Given the description of an element on the screen output the (x, y) to click on. 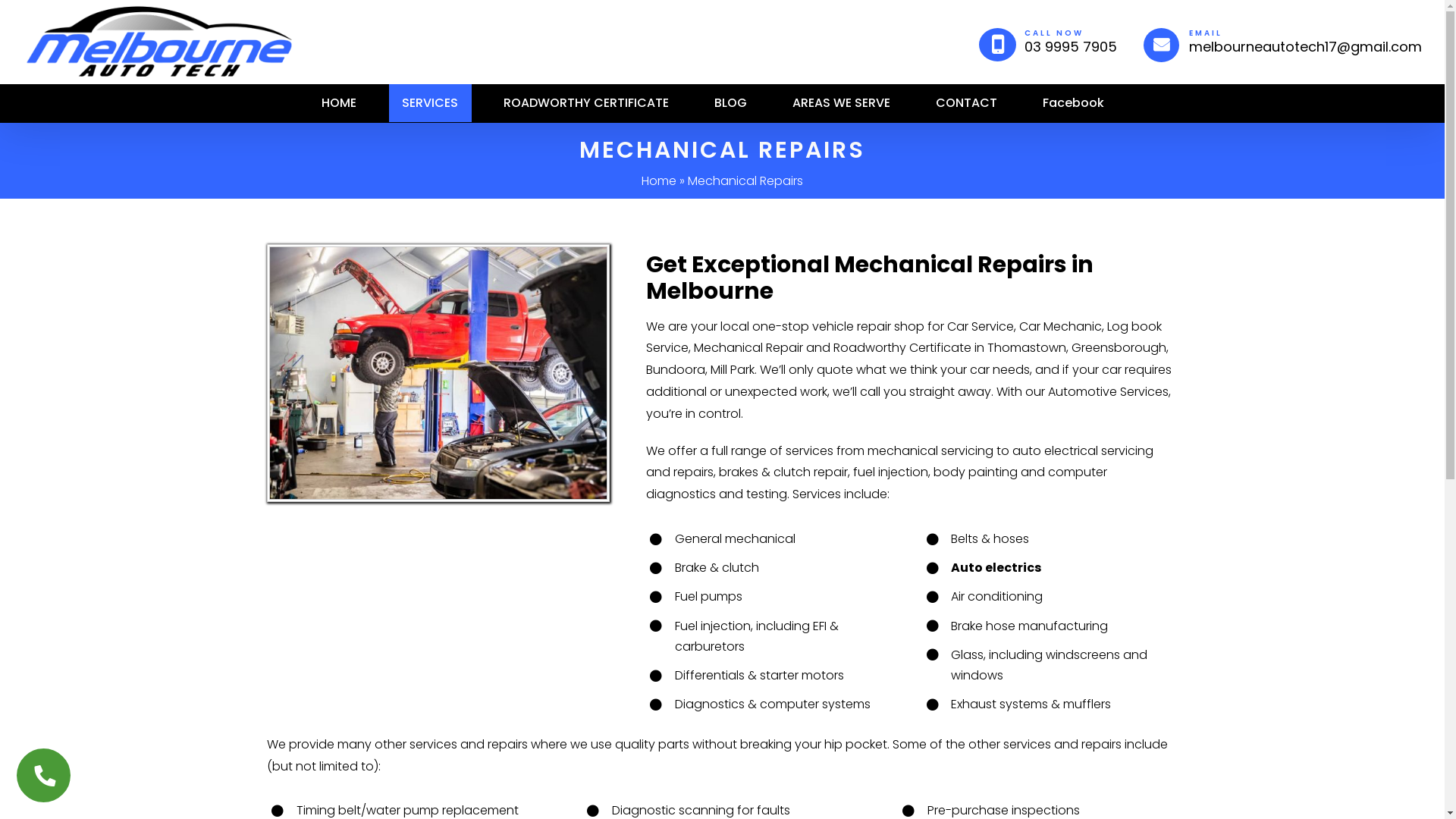
AREAS WE SERVE Element type: text (841, 103)
melbourneautotech17@gmail.com Element type: text (1305, 46)
CONTACT Element type: text (966, 103)
Home Element type: text (658, 180)
BLOG Element type: text (729, 103)
SERVICES Element type: text (429, 103)
03 9995 7905 Element type: text (1070, 46)
Facebook Element type: text (1073, 103)
HOME Element type: text (338, 103)
ROADWORTHY CERTIFICATE Element type: text (585, 103)
Auto electrics Element type: text (995, 567)
Mechanical Repairs Element type: hover (437, 372)
